Given the description of an element on the screen output the (x, y) to click on. 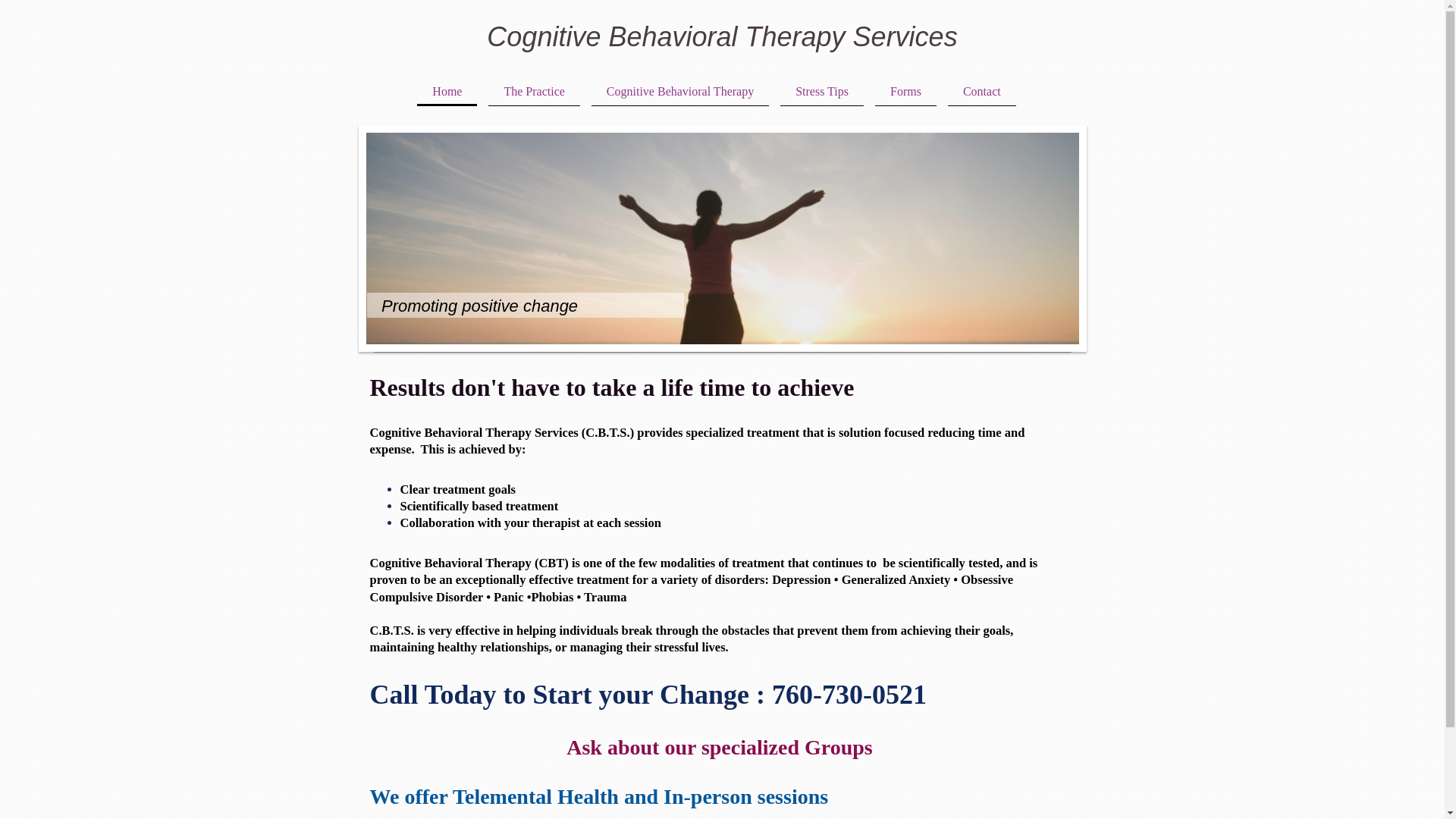
Home (446, 91)
Contact (981, 91)
Promoting positive change (478, 305)
Cognitive Behavioral Therapy Services (721, 36)
Cognitive Behavioral Therapy (679, 91)
Stress Tips (821, 91)
Forms (905, 91)
The Practice (533, 91)
